Given the description of an element on the screen output the (x, y) to click on. 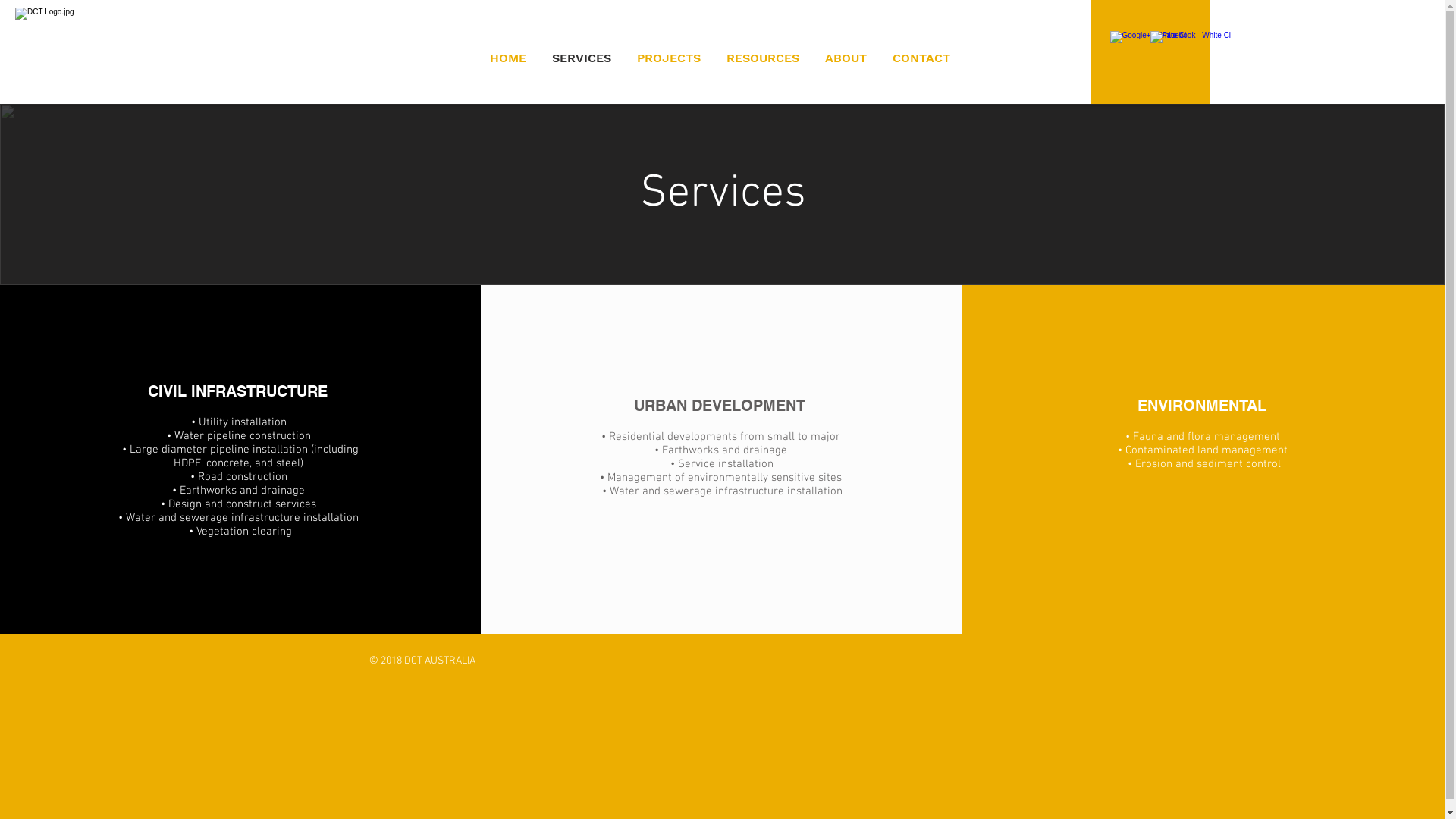
PROJECTS Element type: text (668, 58)
SERVICES Element type: text (581, 58)
HOME Element type: text (507, 58)
CONTACT Element type: text (921, 58)
ABOUT Element type: text (845, 58)
RESOURCES Element type: text (762, 58)
